Given the description of an element on the screen output the (x, y) to click on. 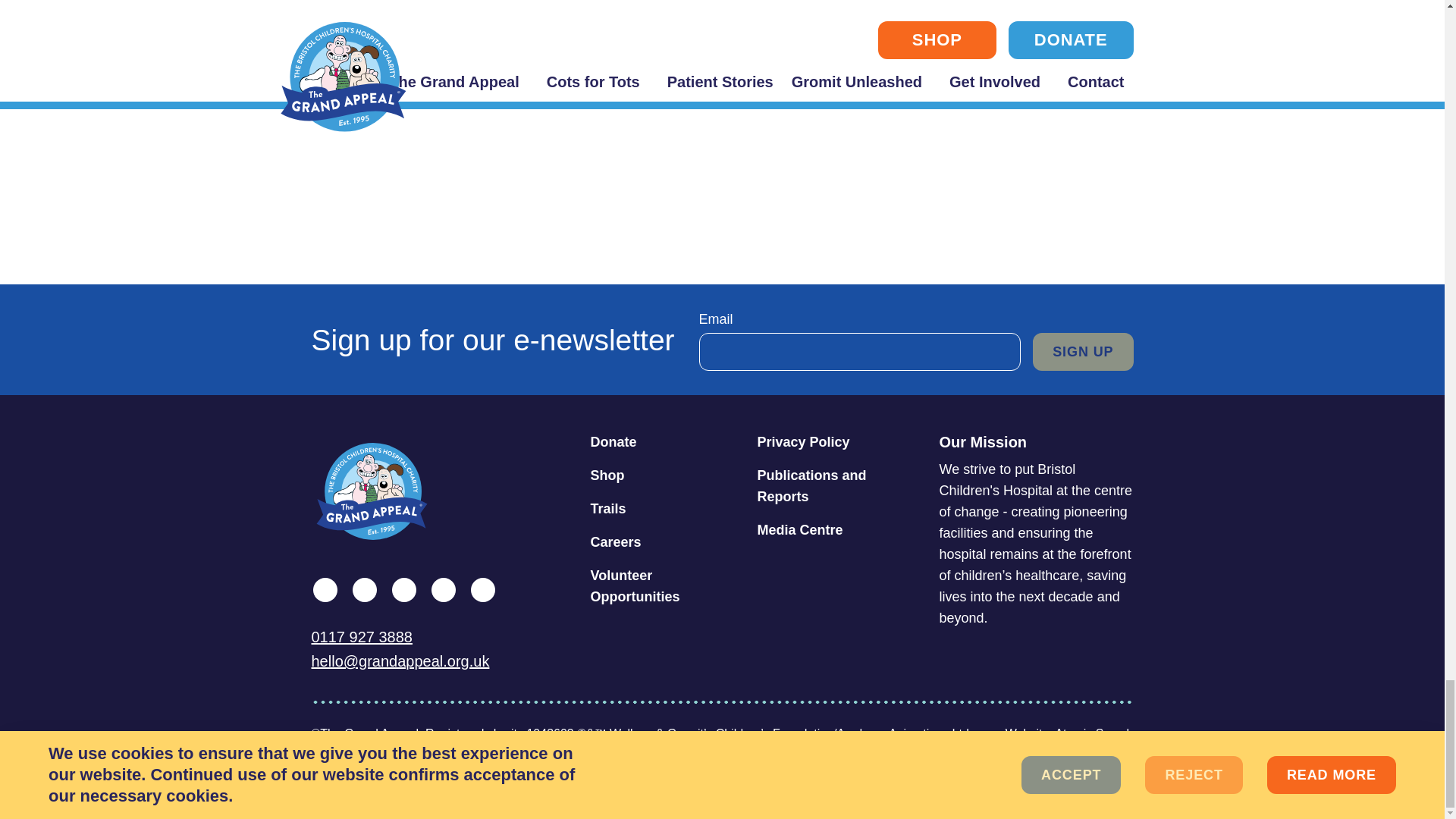
SIGN UP (1082, 351)
0117 927 3888 (443, 636)
Trails (666, 508)
Donate (666, 441)
Shop (666, 475)
